Given the description of an element on the screen output the (x, y) to click on. 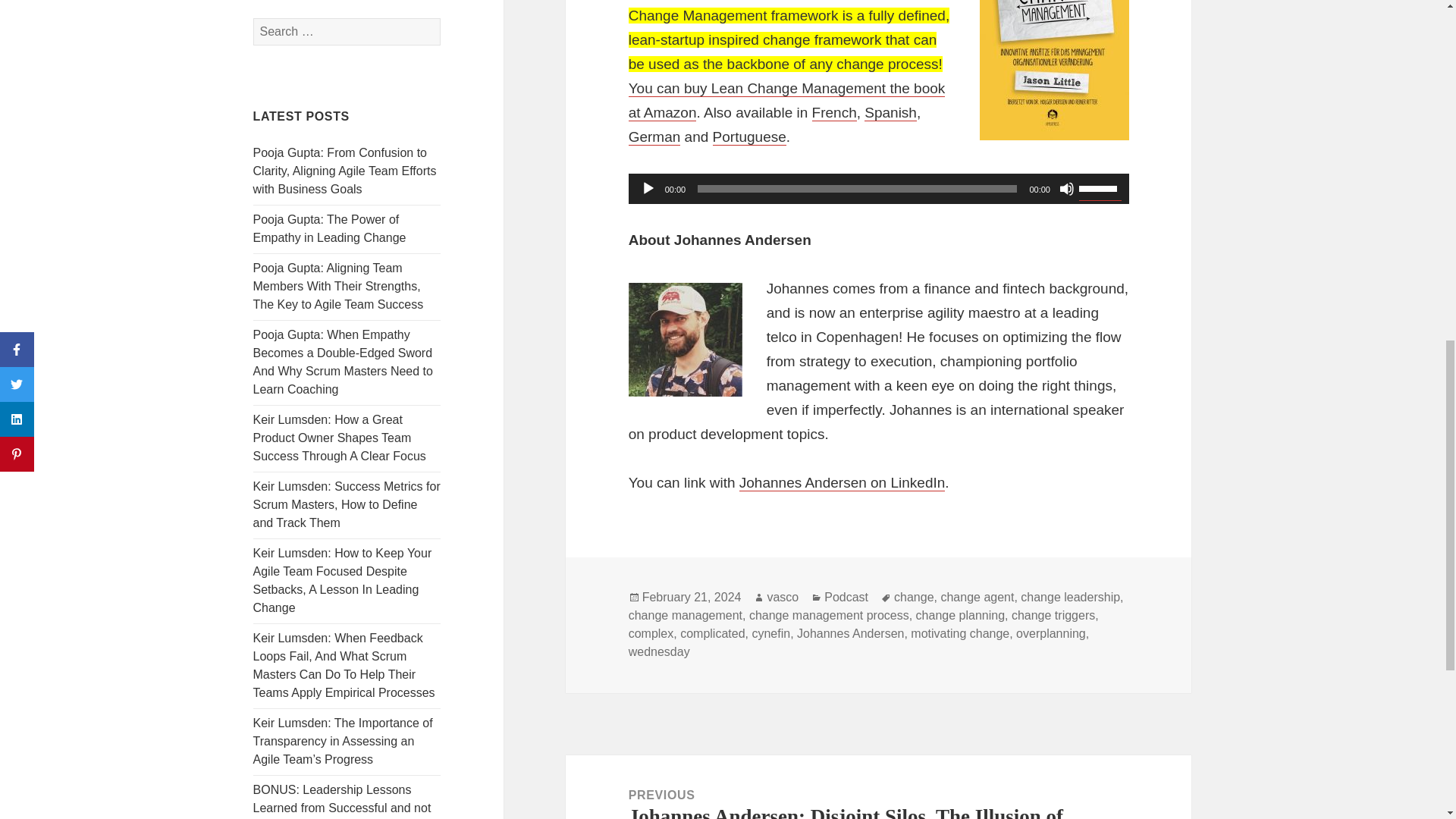
Spanish (890, 112)
February 21, 2024 (691, 597)
Podcast (845, 597)
change management process (828, 615)
French (834, 112)
Play (648, 188)
